Given the description of an element on the screen output the (x, y) to click on. 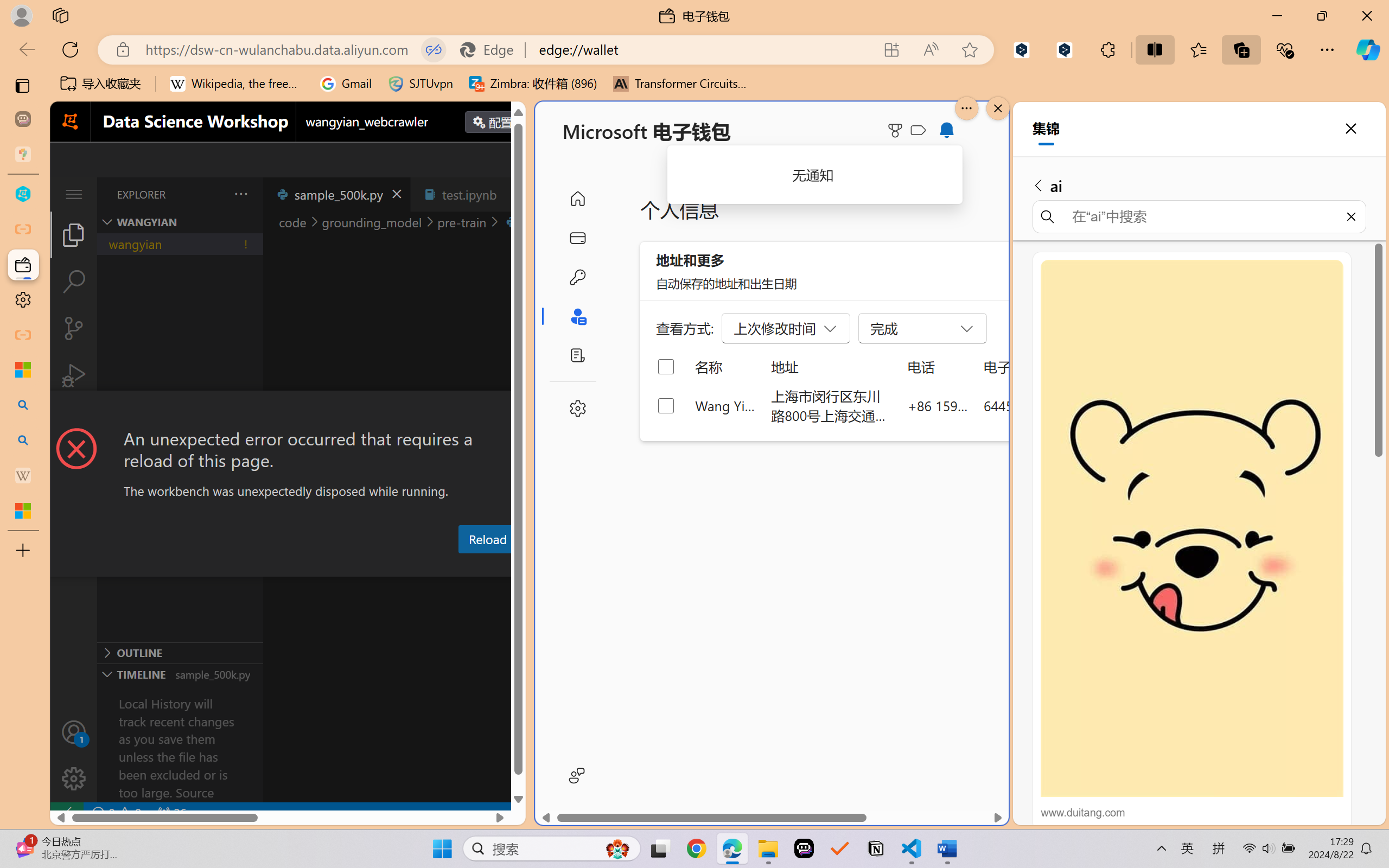
Class: actions-container (287, 410)
remote (66, 812)
Transformer Circuits Thread (680, 83)
Reload (486, 538)
Explorer Section: wangyian (179, 221)
